Given the description of an element on the screen output the (x, y) to click on. 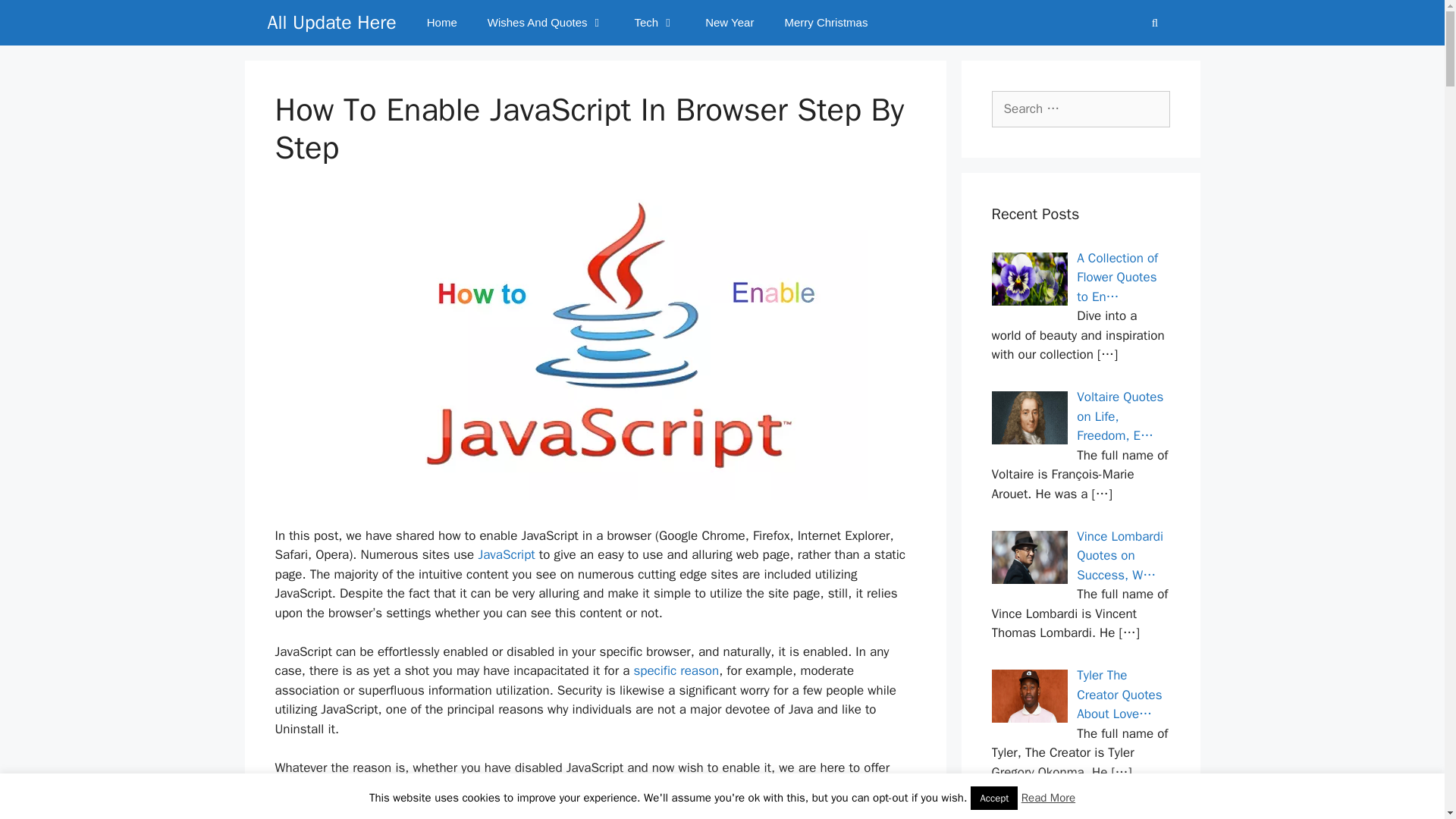
JavaScript (507, 554)
Tech (654, 22)
New Year (729, 22)
Home (441, 22)
Search for: (1080, 108)
All Update Here (331, 22)
Wishes And Quotes (545, 22)
Merry Christmas (825, 22)
